Given the description of an element on the screen output the (x, y) to click on. 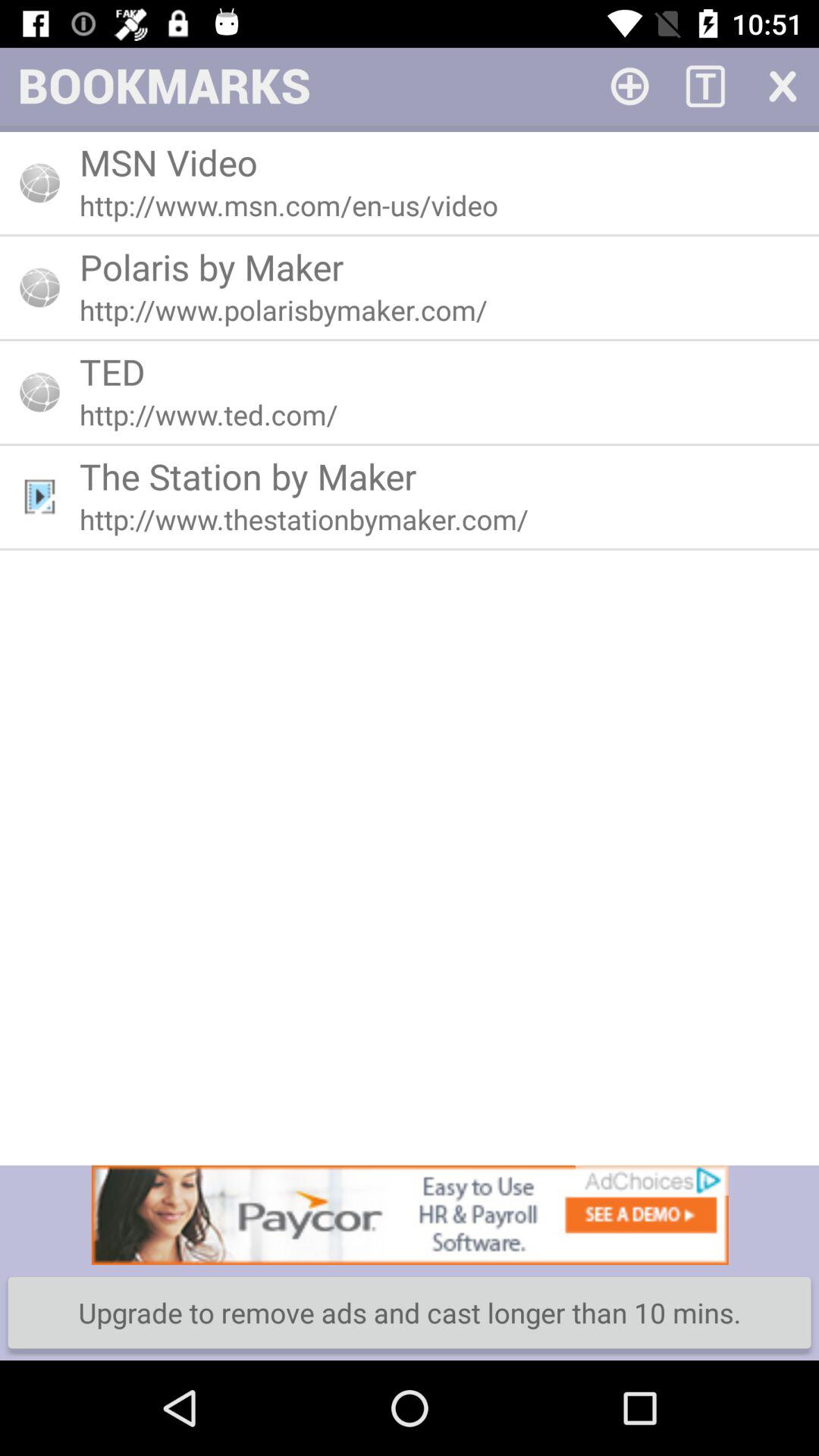
go to add bar (629, 85)
